Given the description of an element on the screen output the (x, y) to click on. 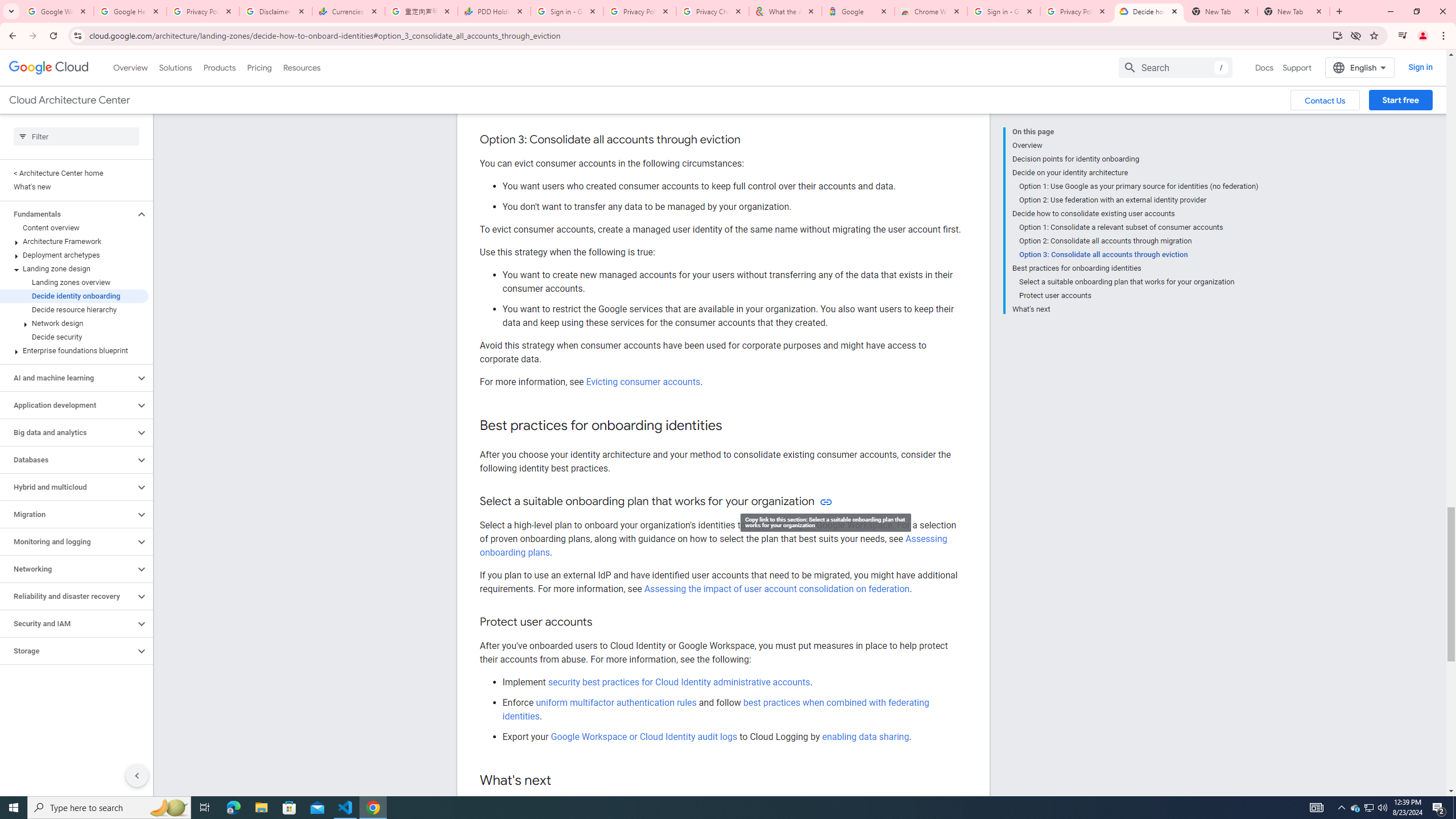
PDD Holdings Inc - ADR (PDD) Price & News - Google Finance (493, 11)
Landing zones overview (74, 282)
Docs, selected (1264, 67)
Google Cloud (48, 67)
Sign in - Google Accounts (1003, 11)
Type to filter (76, 136)
Monitoring and logging (67, 541)
Reliability and disaster recovery (67, 596)
Migration (67, 514)
Resources (301, 67)
